Given the description of an element on the screen output the (x, y) to click on. 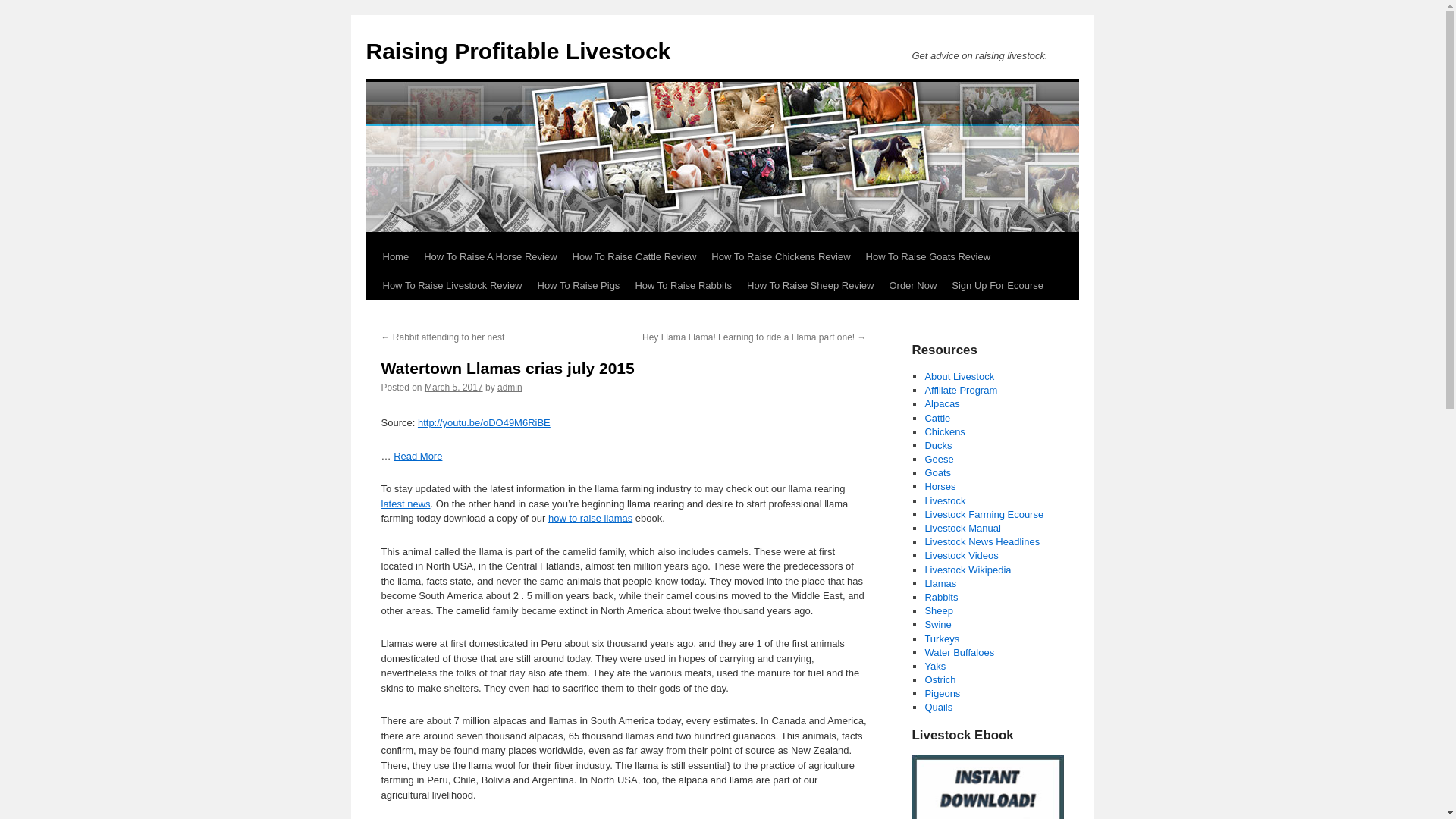
latest news (404, 503)
9:00 pm (454, 387)
Read More (417, 455)
how to raise llamas (589, 518)
How To Raise Chickens Review (780, 256)
How To Raise Cattle Review (634, 256)
How To Raise Livestock Review (451, 285)
Sign Up For Ecourse (997, 285)
How To Raise Rabbits (683, 285)
Click Here To Visit Website (986, 787)
Home (395, 256)
admin (509, 387)
How To Raise A Horse Review (490, 256)
How To Raise Goats Review (928, 256)
View all posts by admin (509, 387)
